Given the description of an element on the screen output the (x, y) to click on. 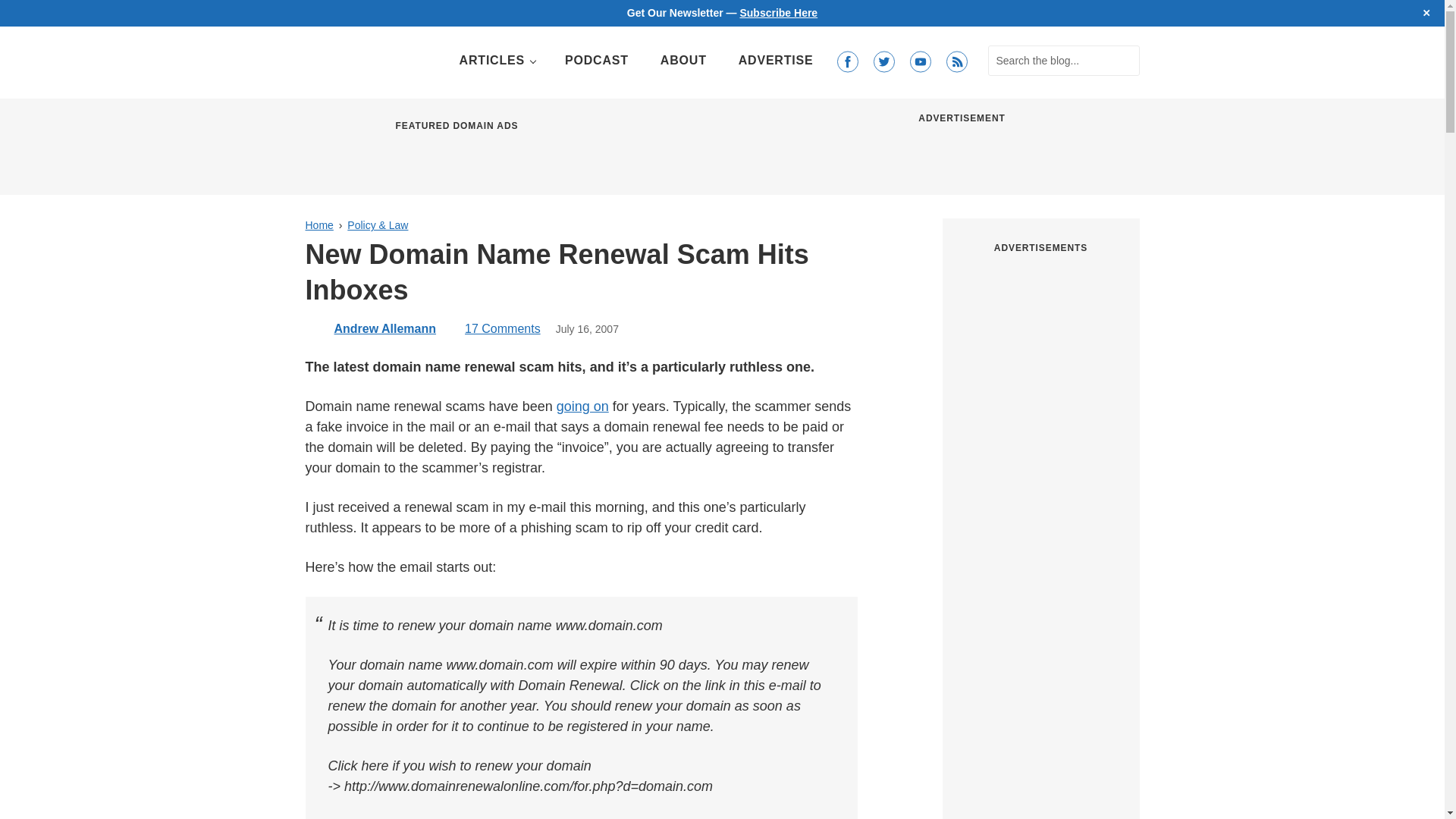
Home (318, 224)
Facebook (846, 62)
YouTube (919, 62)
17 Comments (495, 328)
RSS Feed (956, 62)
Andrew Allemann (384, 328)
ARTICLES (495, 60)
going on (582, 406)
PODCAST (596, 60)
Submit search (1123, 60)
ABOUT (683, 60)
ADVERTISE (775, 60)
Subscribe Here (777, 12)
Submit search (1123, 60)
